Given the description of an element on the screen output the (x, y) to click on. 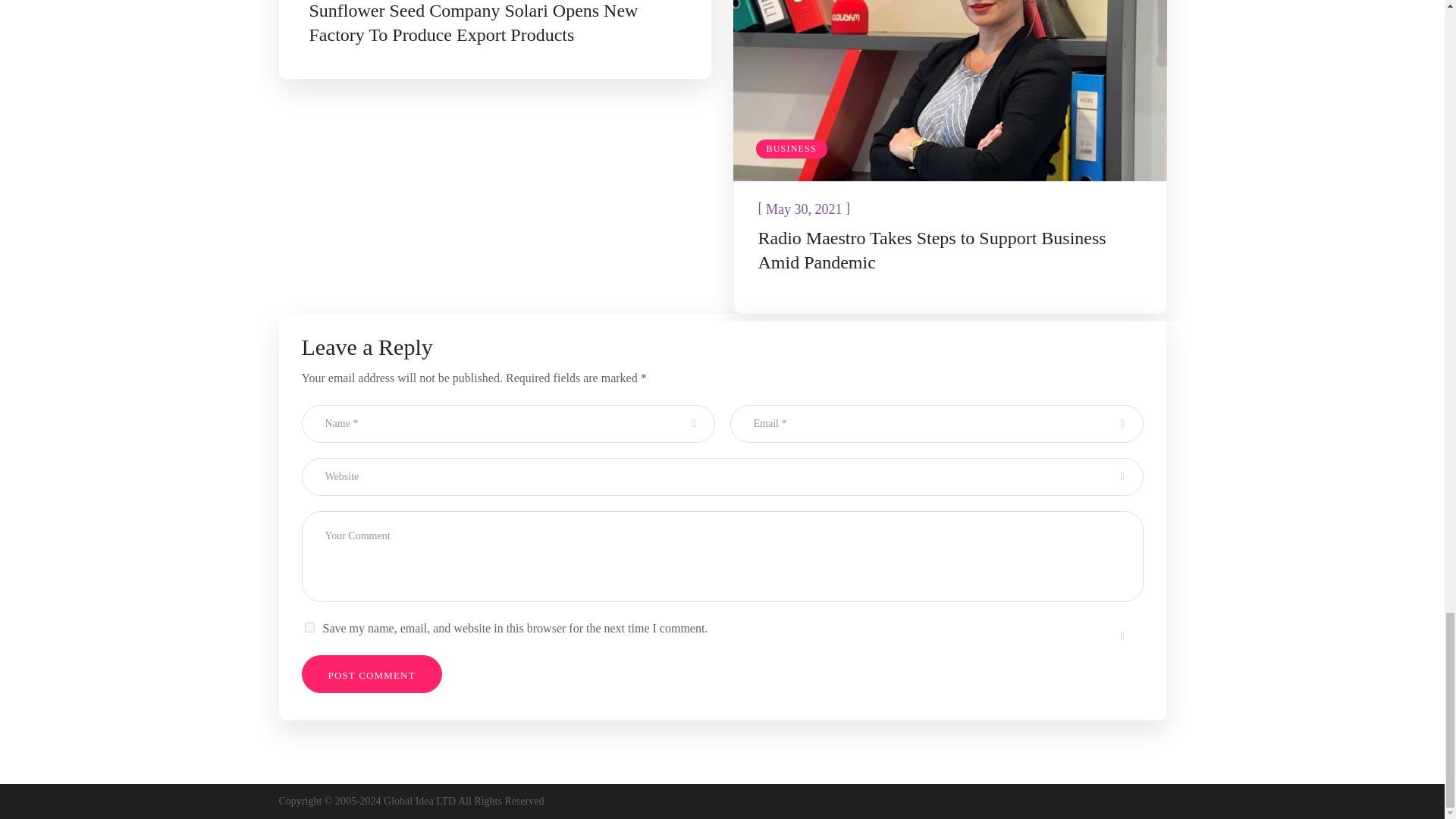
yes (309, 627)
Website (721, 476)
Post Comment (371, 673)
